Given the description of an element on the screen output the (x, y) to click on. 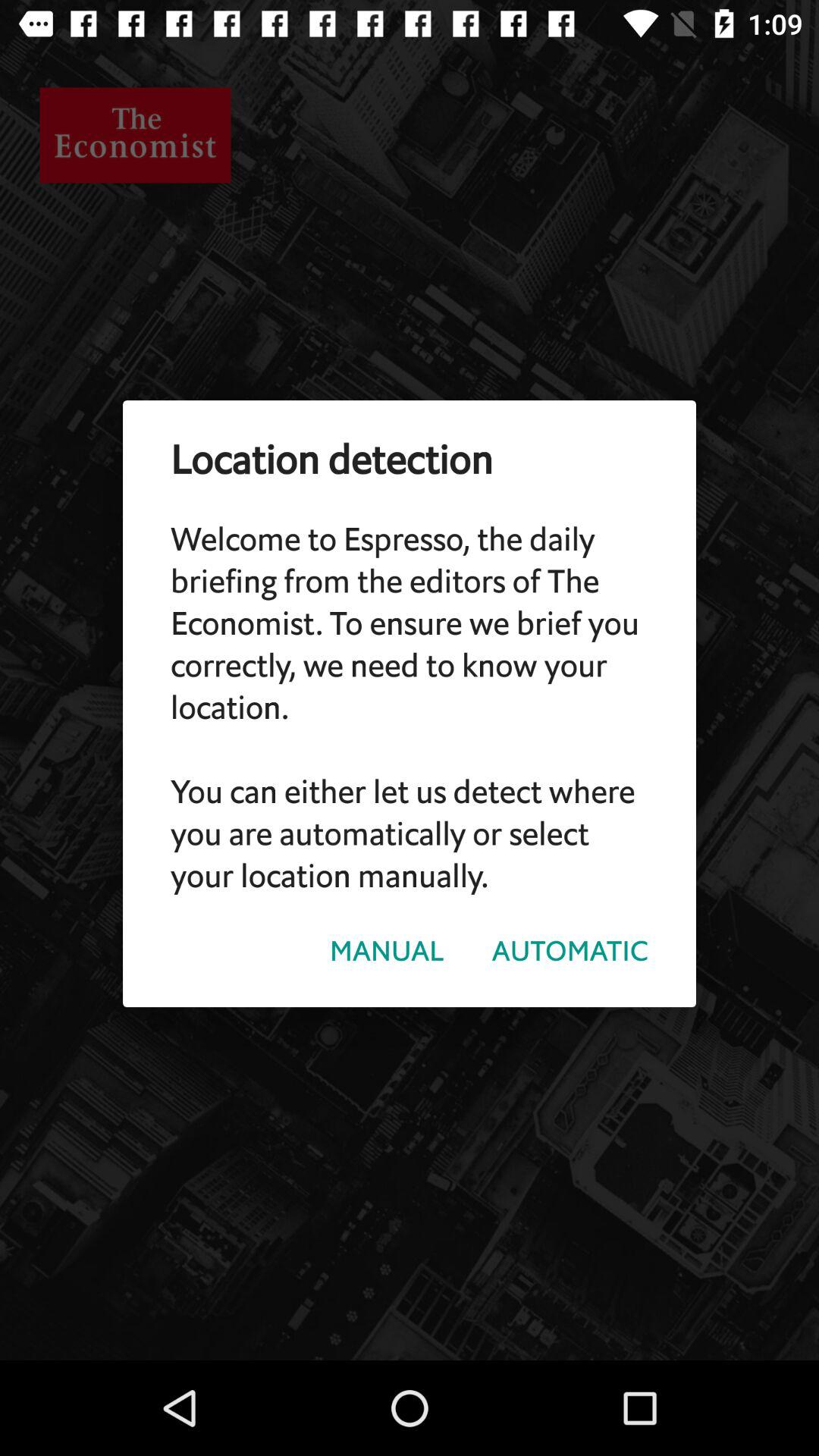
click button to the left of automatic (386, 951)
